Given the description of an element on the screen output the (x, y) to click on. 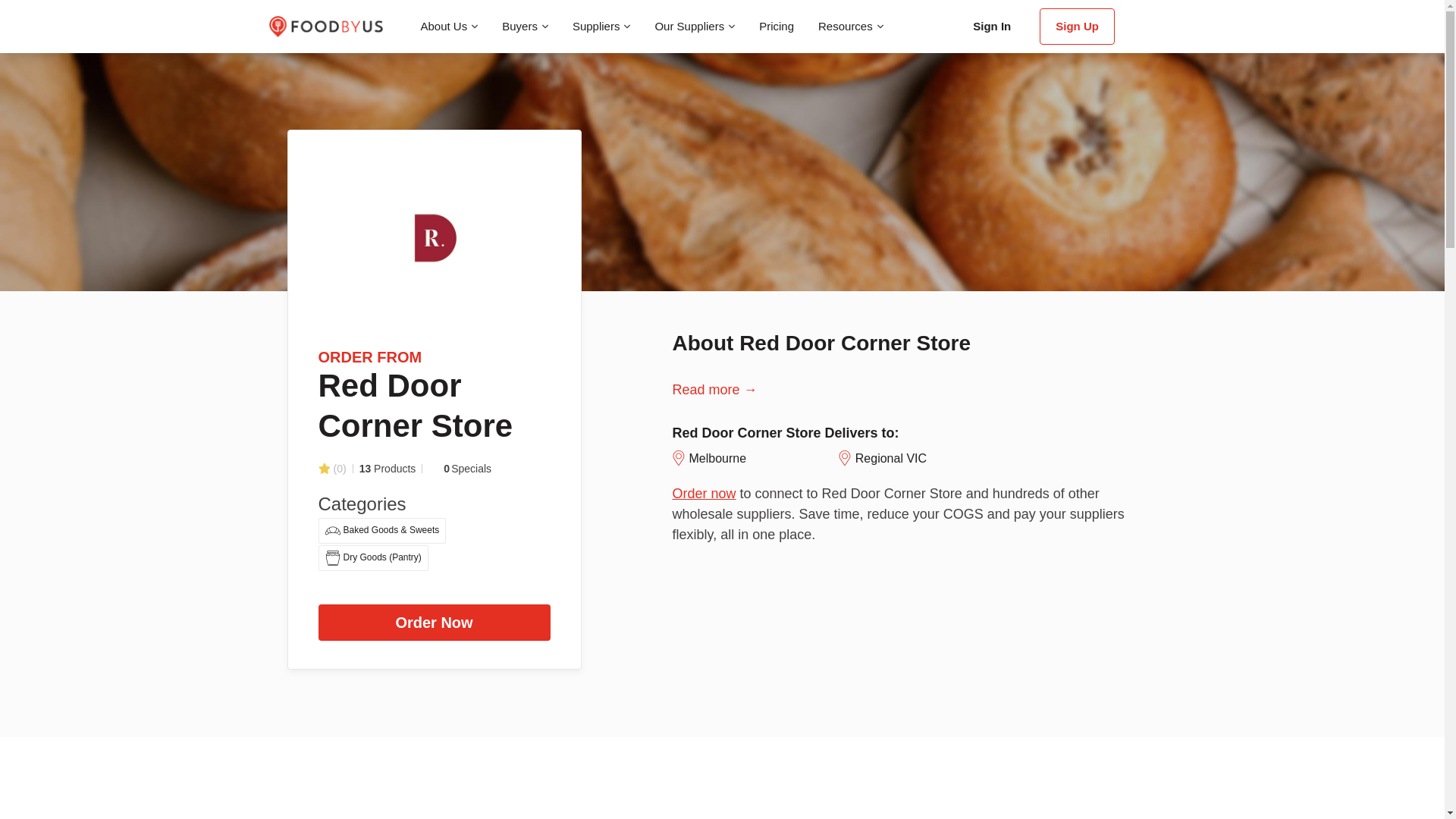
Buyers (525, 26)
Pricing (776, 26)
Suppliers (601, 26)
Our Suppliers (694, 26)
About Us (448, 26)
Resources (850, 26)
